Given the description of an element on the screen output the (x, y) to click on. 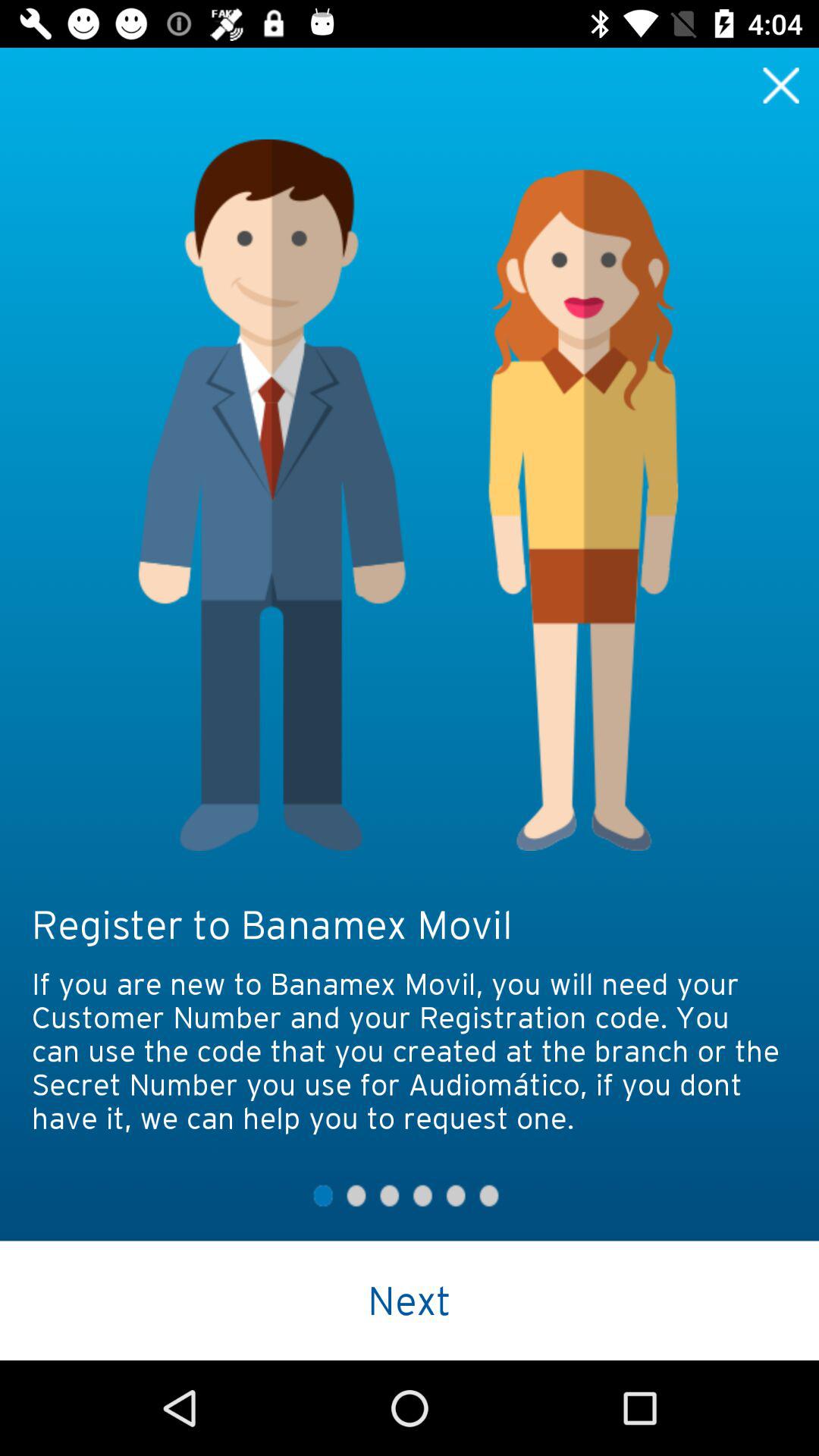
close (781, 85)
